Given the description of an element on the screen output the (x, y) to click on. 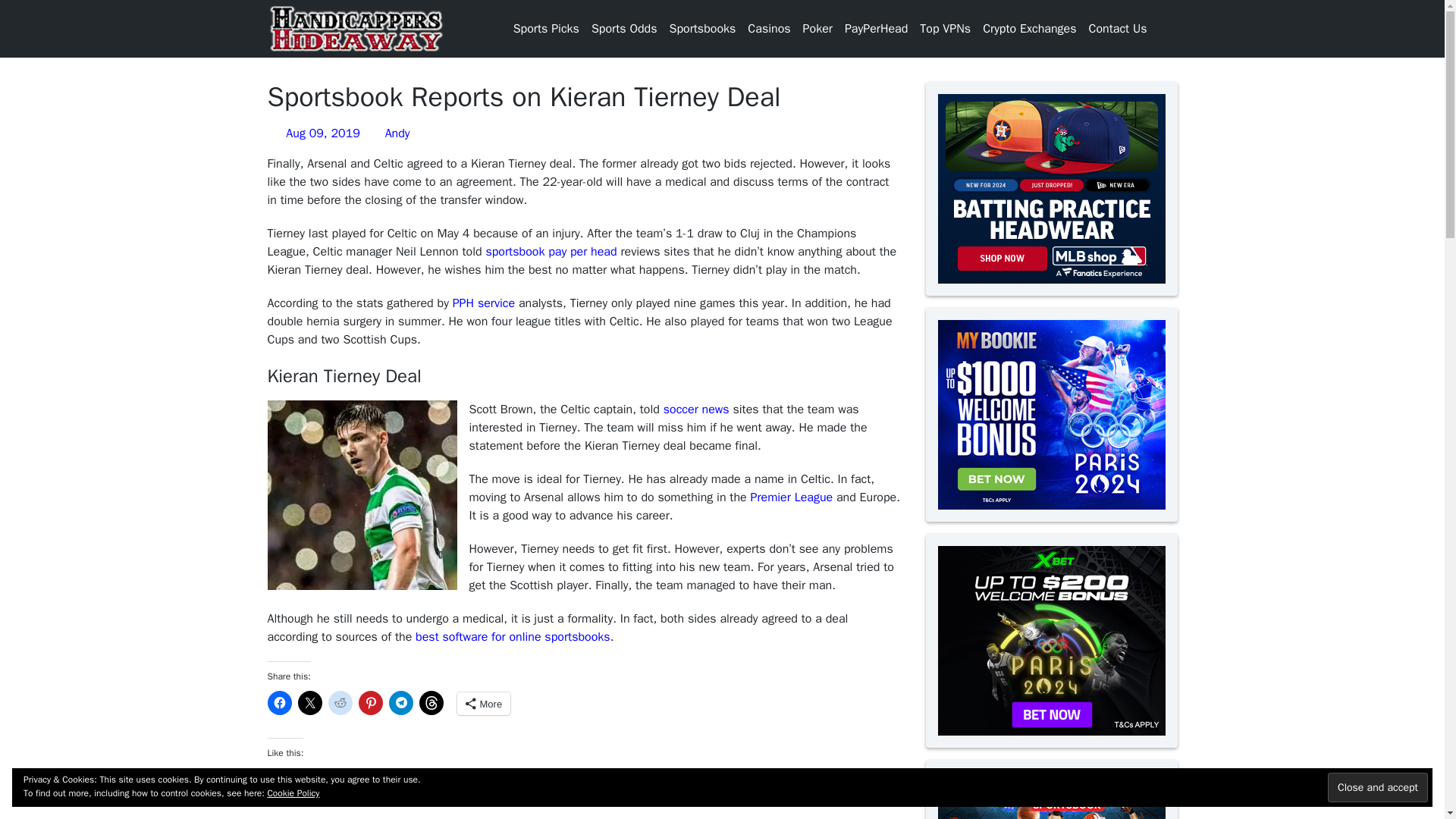
Sports Picks (546, 28)
WinPort Casino (765, 146)
Casinos (769, 28)
MLB Odds (617, 101)
Sportsbooks (701, 28)
NFL Odds (614, 264)
Click to share on Reddit (339, 702)
UFC Odds (615, 283)
Sportsbook Reports on Kieran Tierney Deal (361, 494)
PlayBlackJack (782, 119)
Click to share on Threads (430, 702)
Best Sportsbooks (699, 92)
WNBA Odds (606, 310)
PayPerHead (875, 28)
Comparisons and Ratings (701, 55)
